Given the description of an element on the screen output the (x, y) to click on. 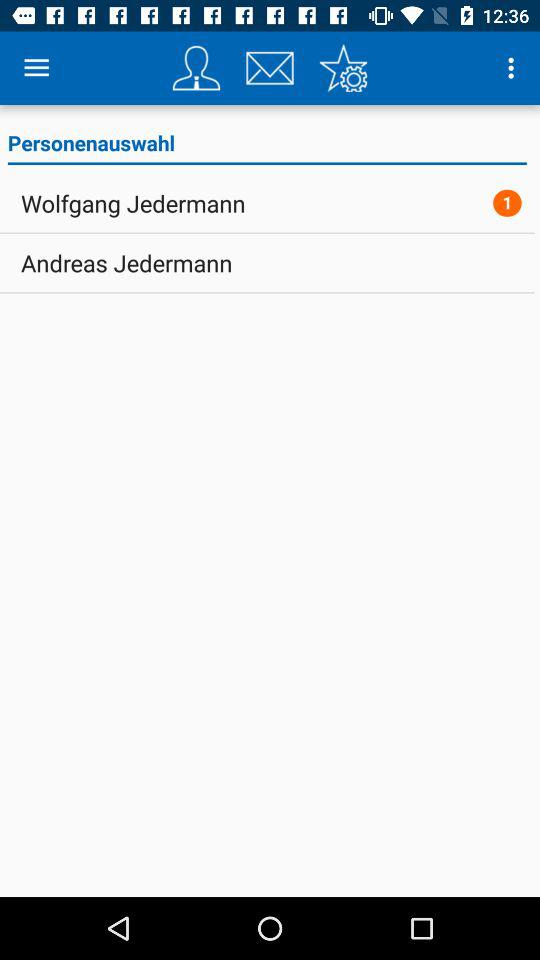
select icon to the left of the  1 (133, 203)
